Given the description of an element on the screen output the (x, y) to click on. 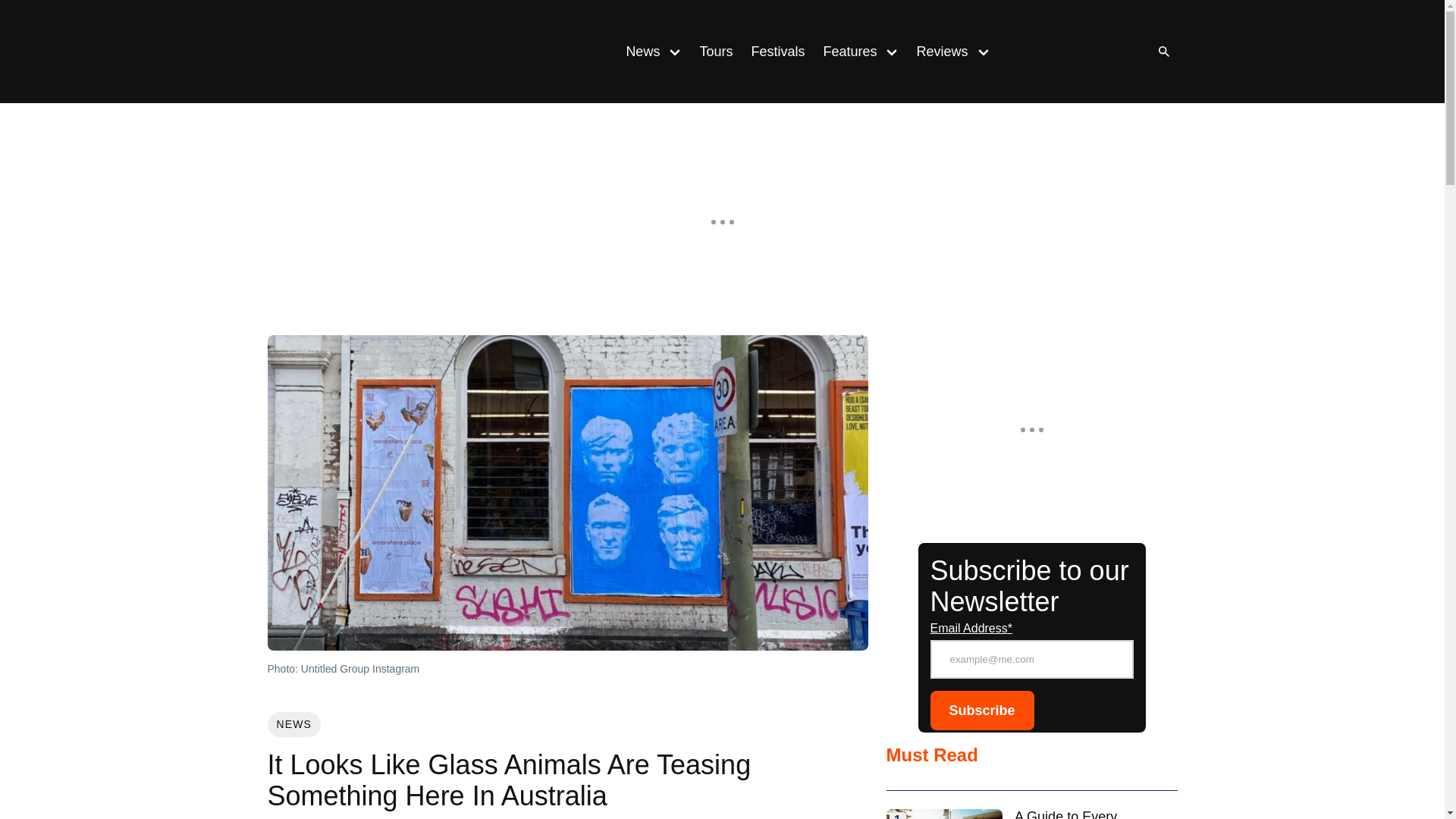
Facebook (1079, 51)
Reviews (937, 51)
Open menu (982, 51)
Open menu (674, 51)
Instagram (1048, 51)
NEWS (293, 724)
Tours (715, 51)
Features (844, 51)
Open menu (891, 51)
Festivals (777, 51)
Twitter (1109, 51)
